Given the description of an element on the screen output the (x, y) to click on. 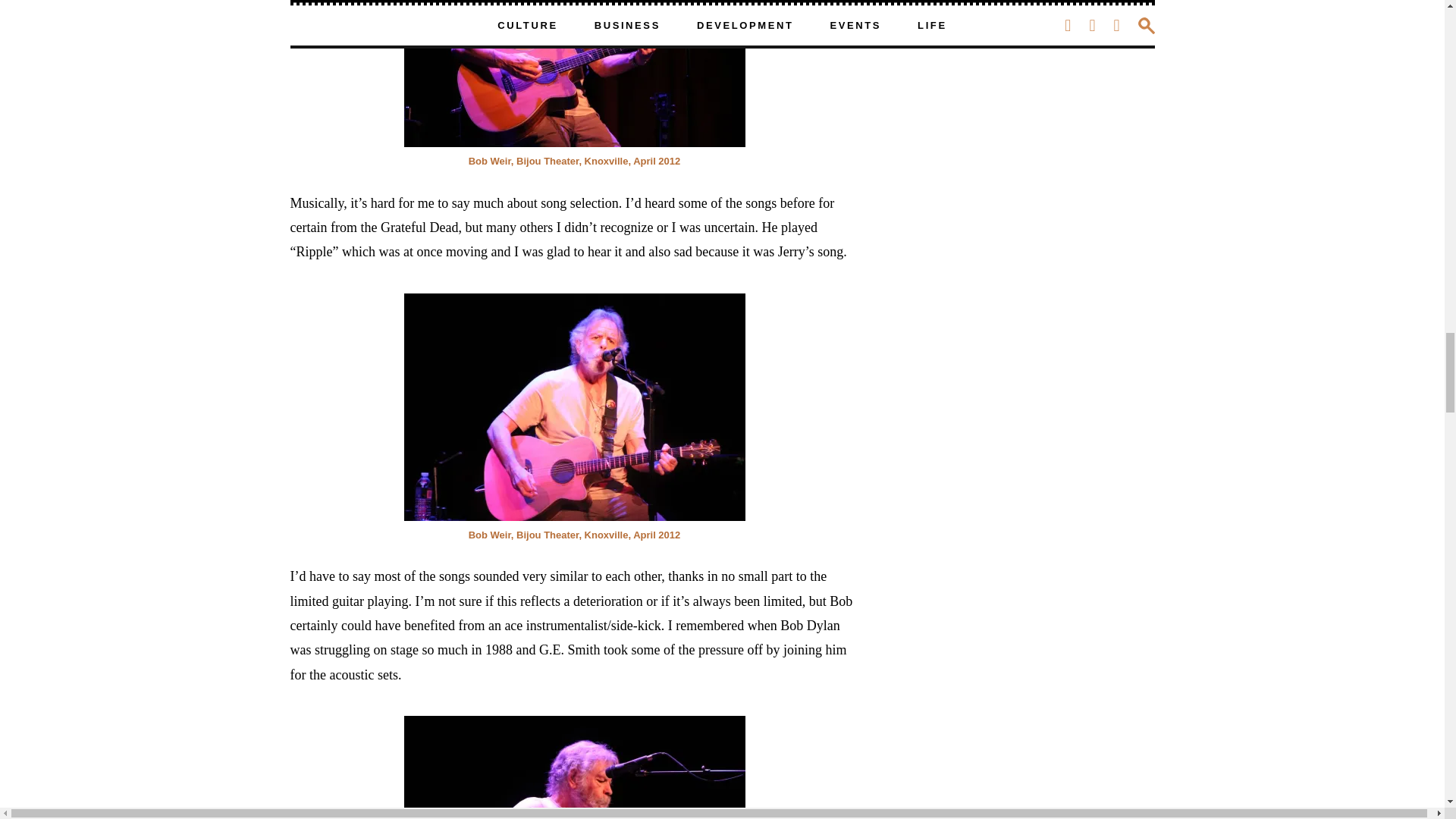
Bob Weir7, Bijou Theater, Knoxville, April 2012 (573, 73)
